Given the description of an element on the screen output the (x, y) to click on. 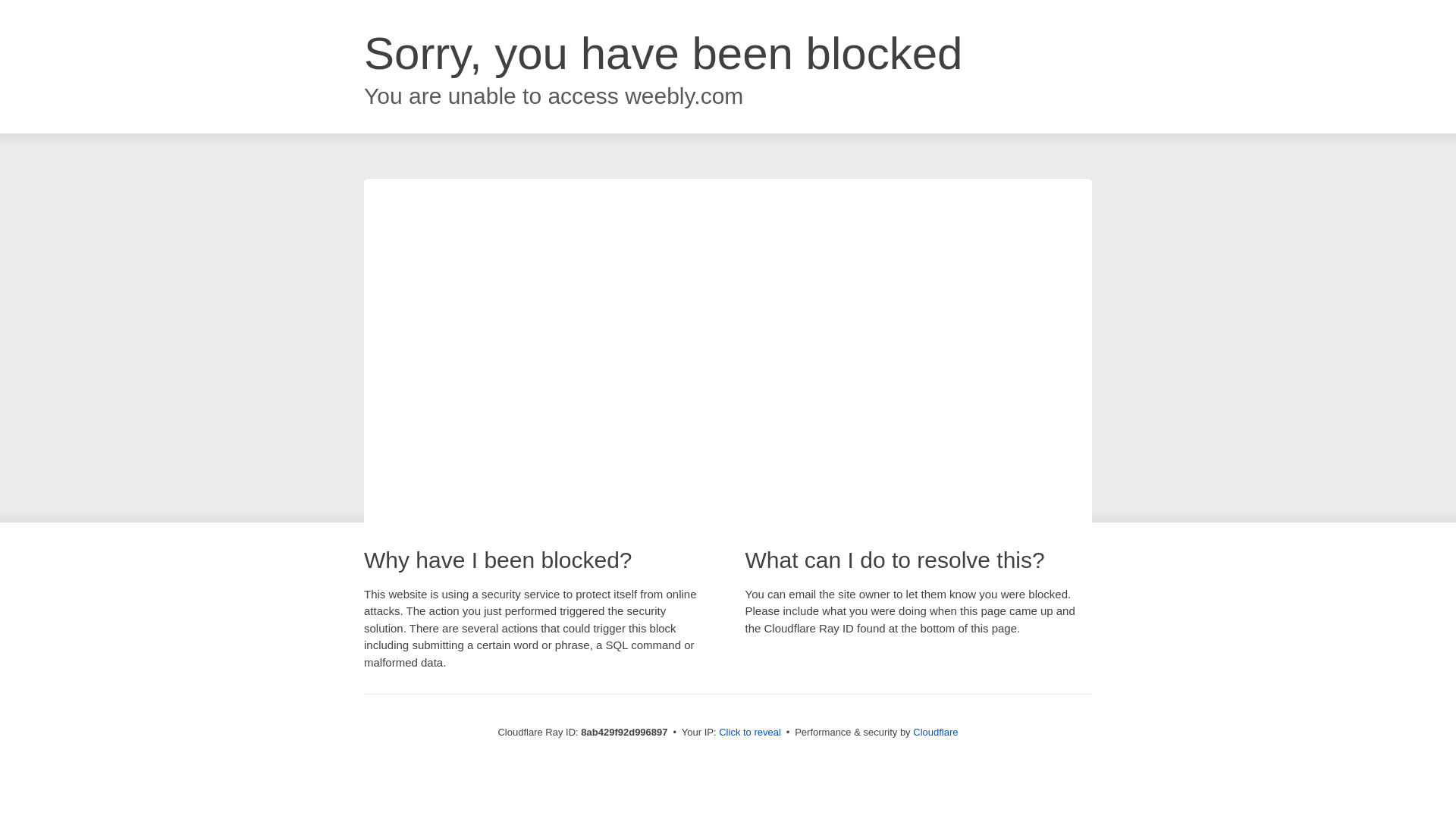
Click to reveal (749, 732)
Cloudflare (935, 731)
